Given the description of an element on the screen output the (x, y) to click on. 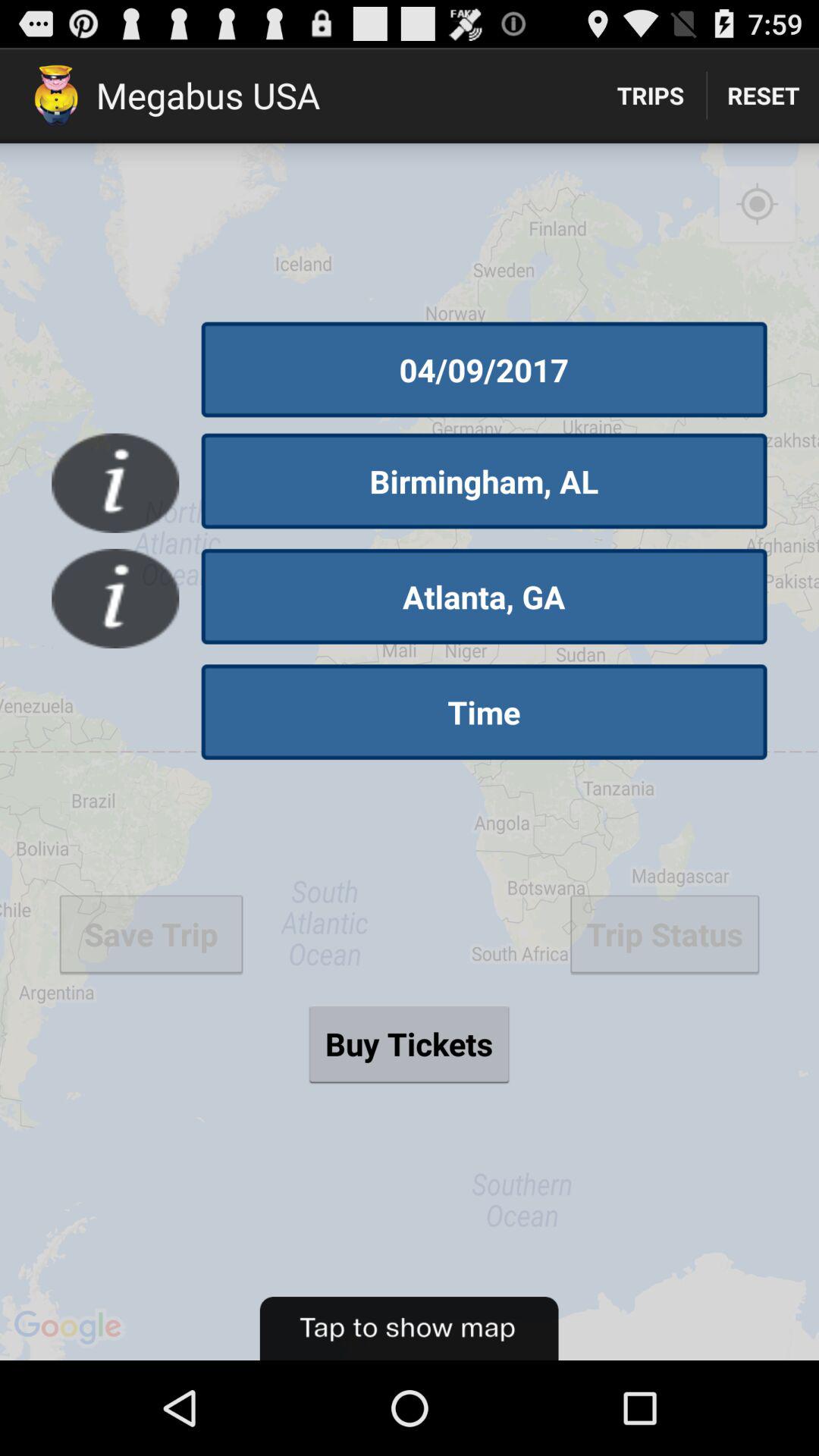
turn on icon above time button (484, 596)
